Given the description of an element on the screen output the (x, y) to click on. 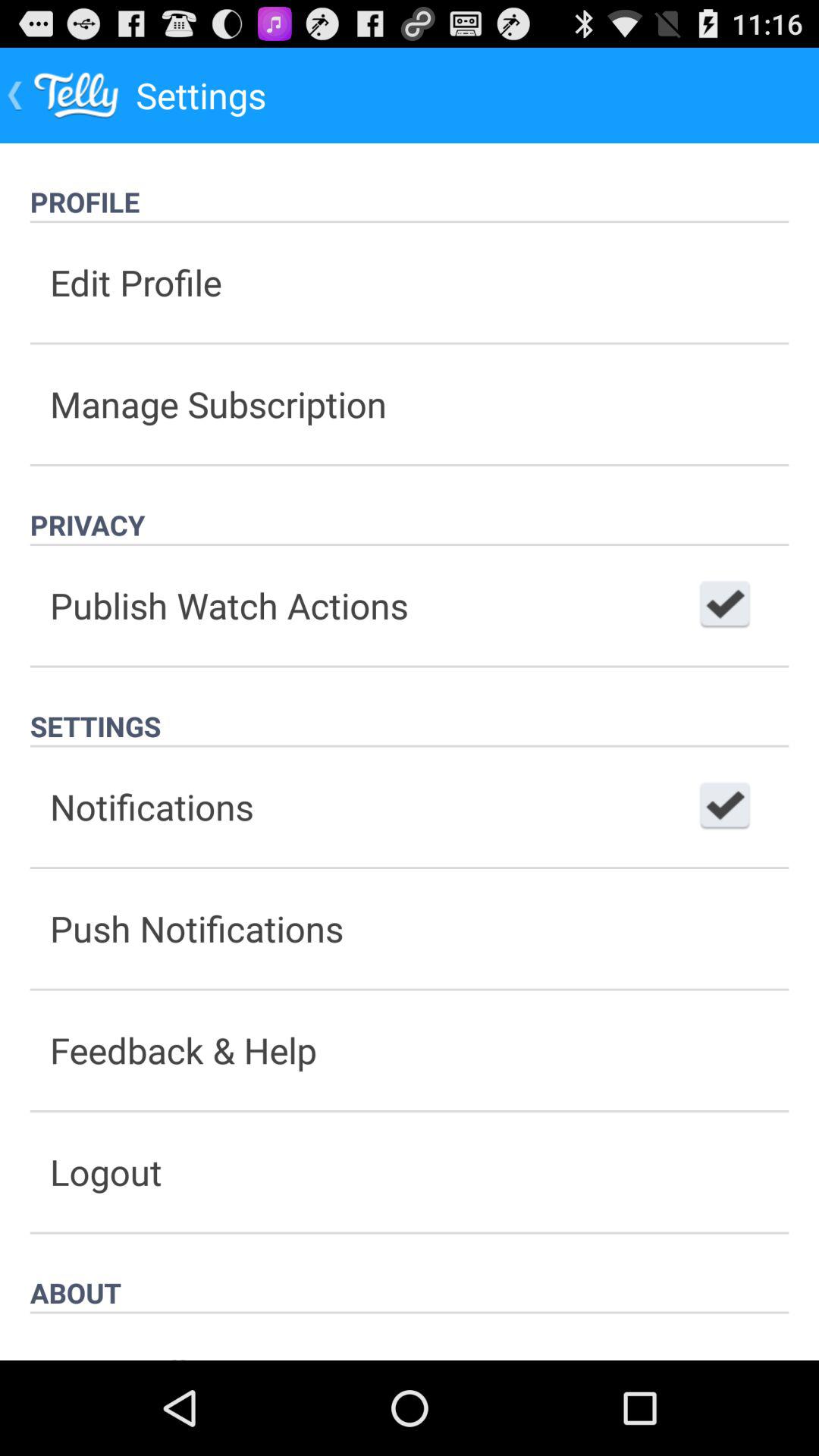
flip until the edit profile button (409, 282)
